Given the description of an element on the screen output the (x, y) to click on. 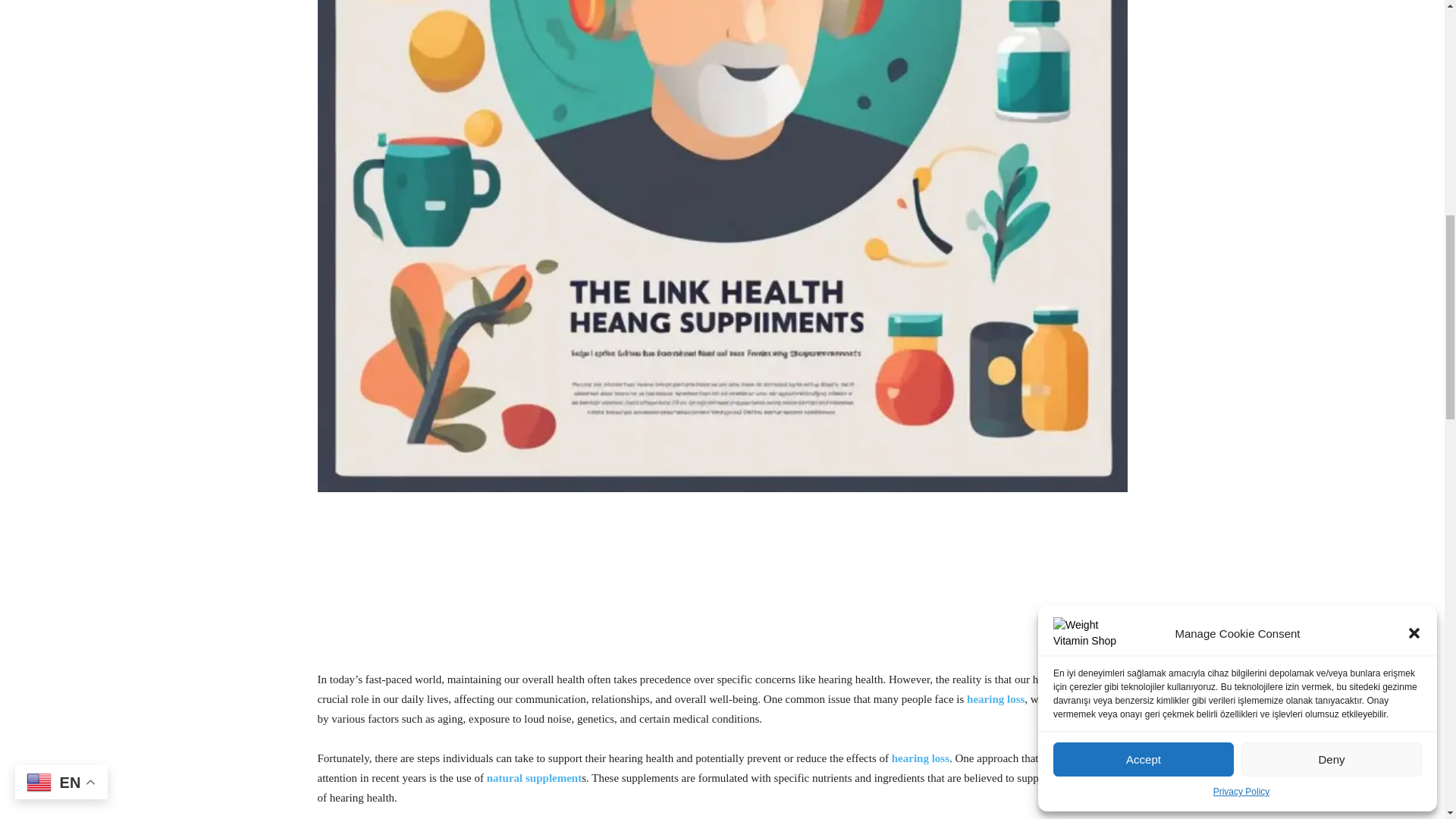
Advertisement (721, 587)
